Given the description of an element on the screen output the (x, y) to click on. 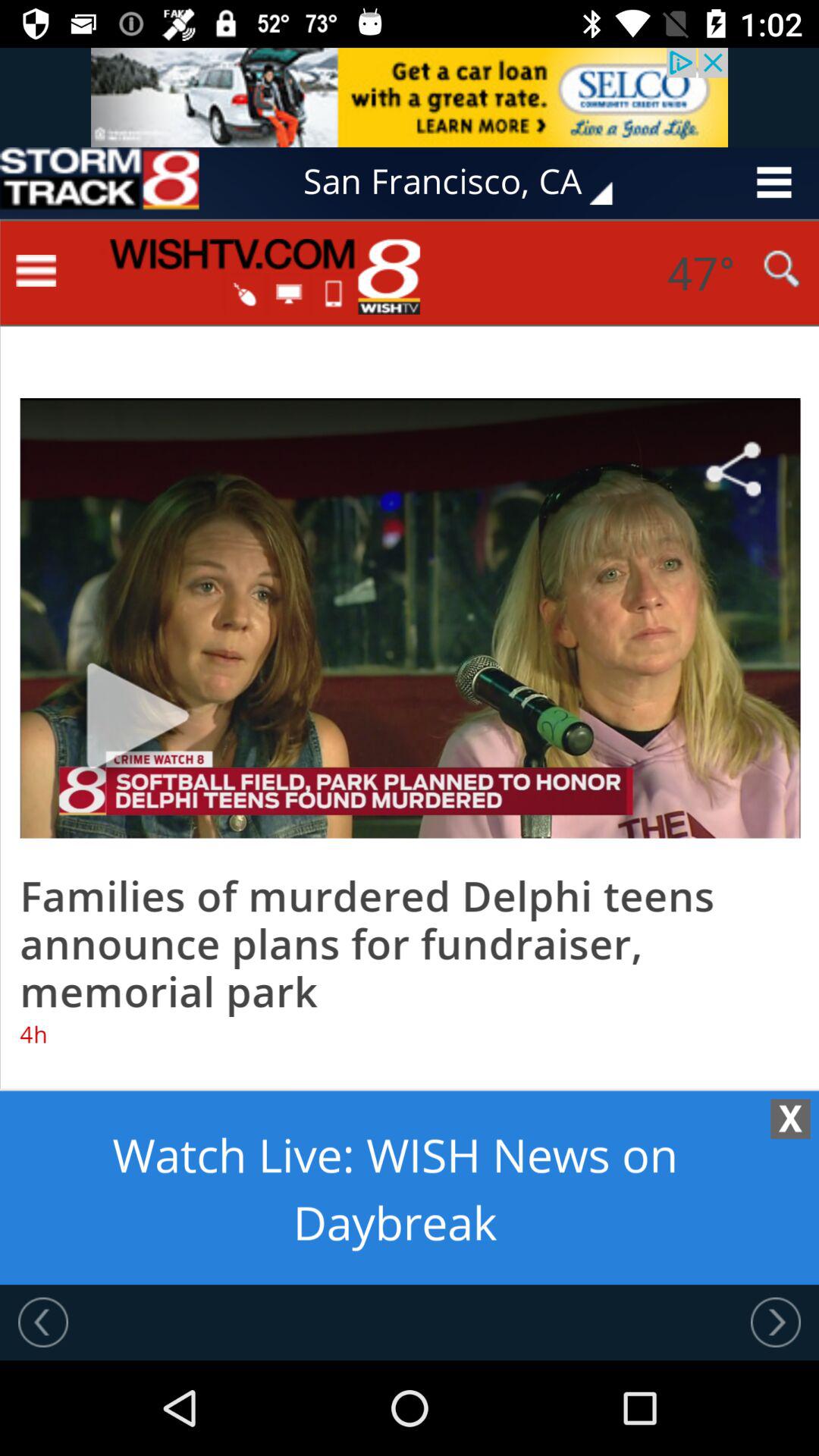
advertisement (409, 97)
